Given the description of an element on the screen output the (x, y) to click on. 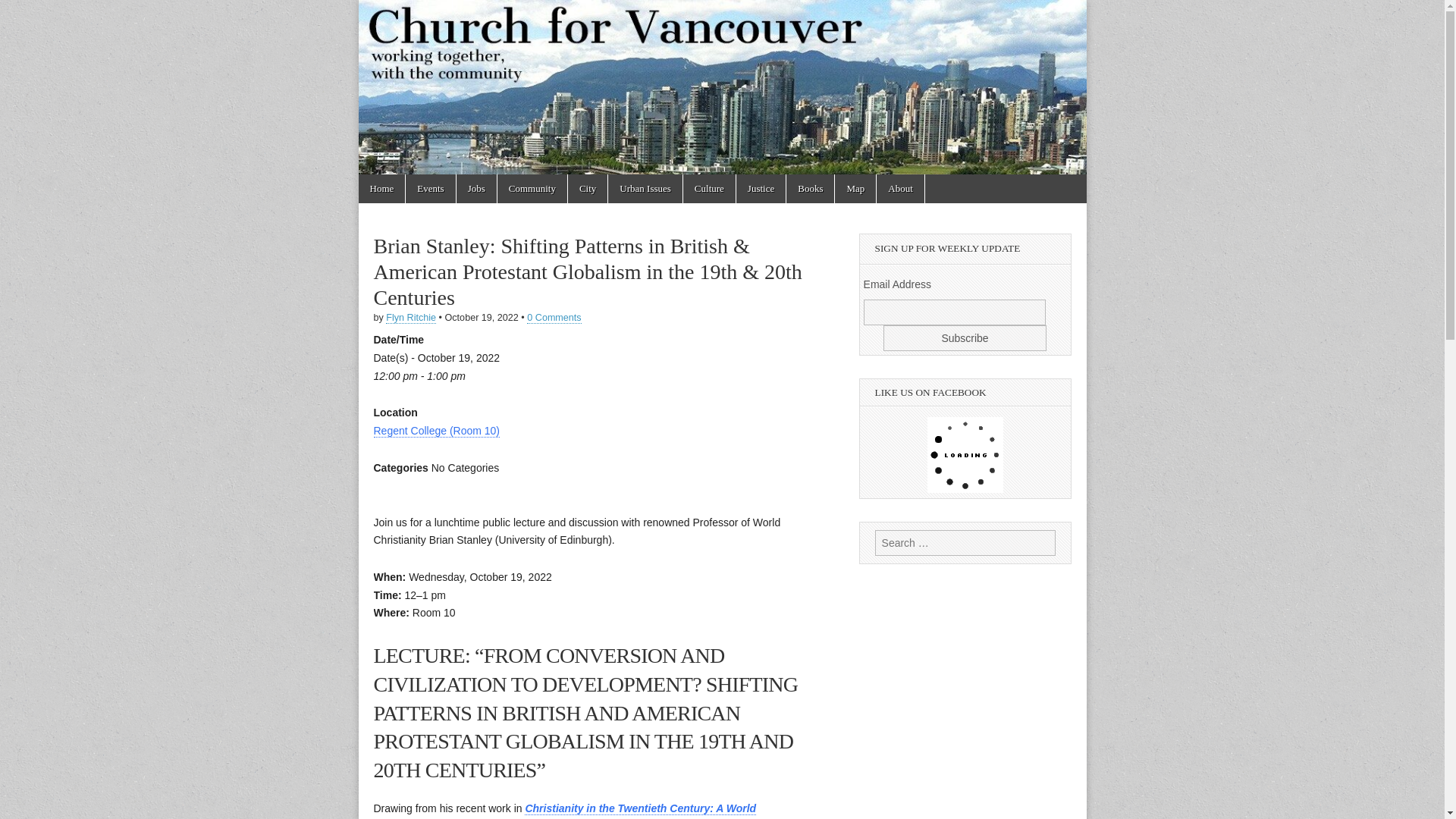
Church for Vancouver (450, 76)
Map (855, 188)
Home (381, 188)
Flyn Ritchie (410, 317)
Events (430, 188)
Justice (761, 188)
About (900, 188)
Culture (708, 188)
Urban Issues (645, 188)
